Given the description of an element on the screen output the (x, y) to click on. 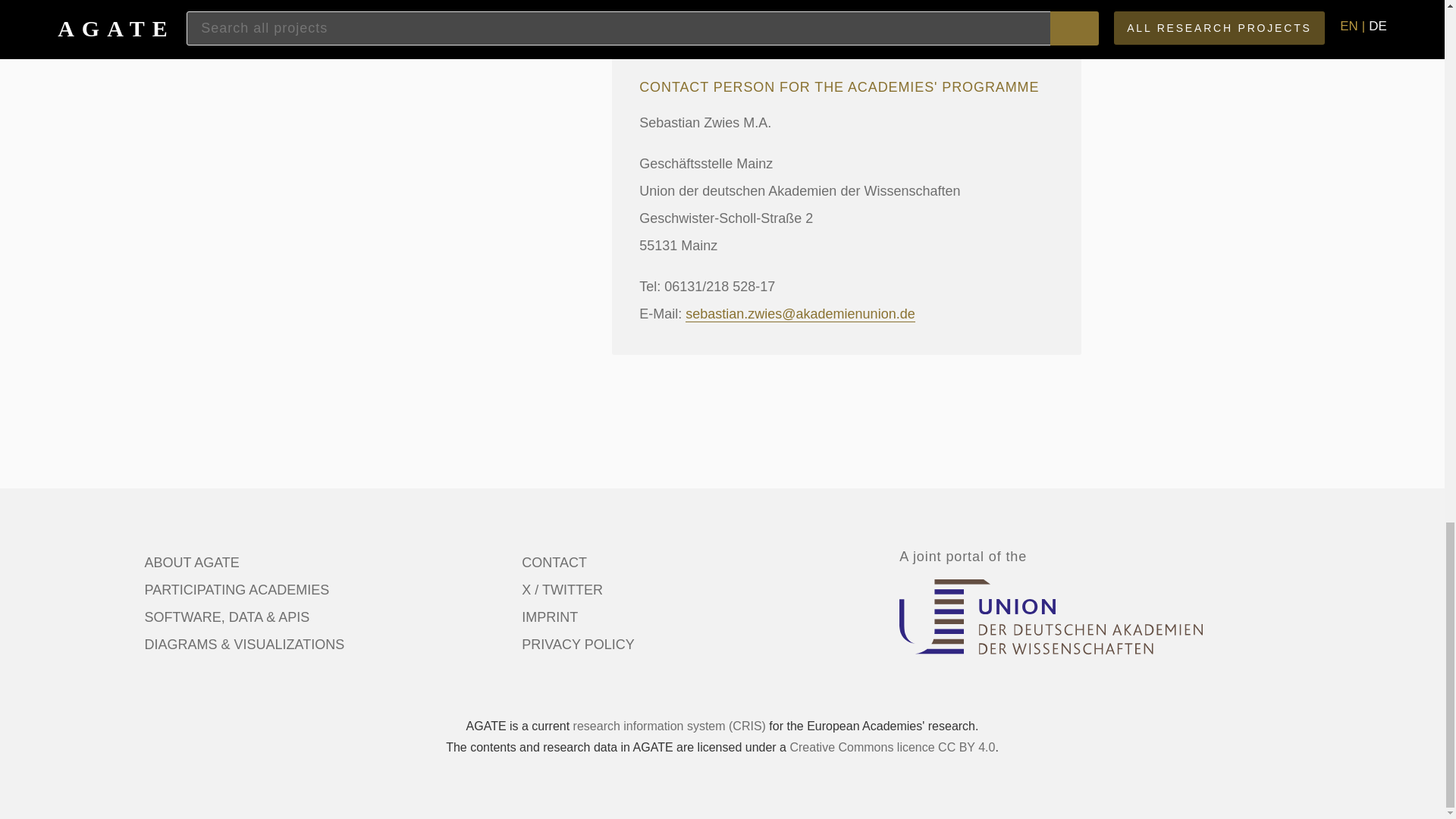
IMPRINT (549, 616)
PRIVACY POLICY (577, 644)
Creative Commons licence CC BY 4.0 (891, 747)
PARTICIPATING ACADEMIES (236, 589)
CONTACT (553, 562)
ABOUT AGATE (191, 562)
